Given the description of an element on the screen output the (x, y) to click on. 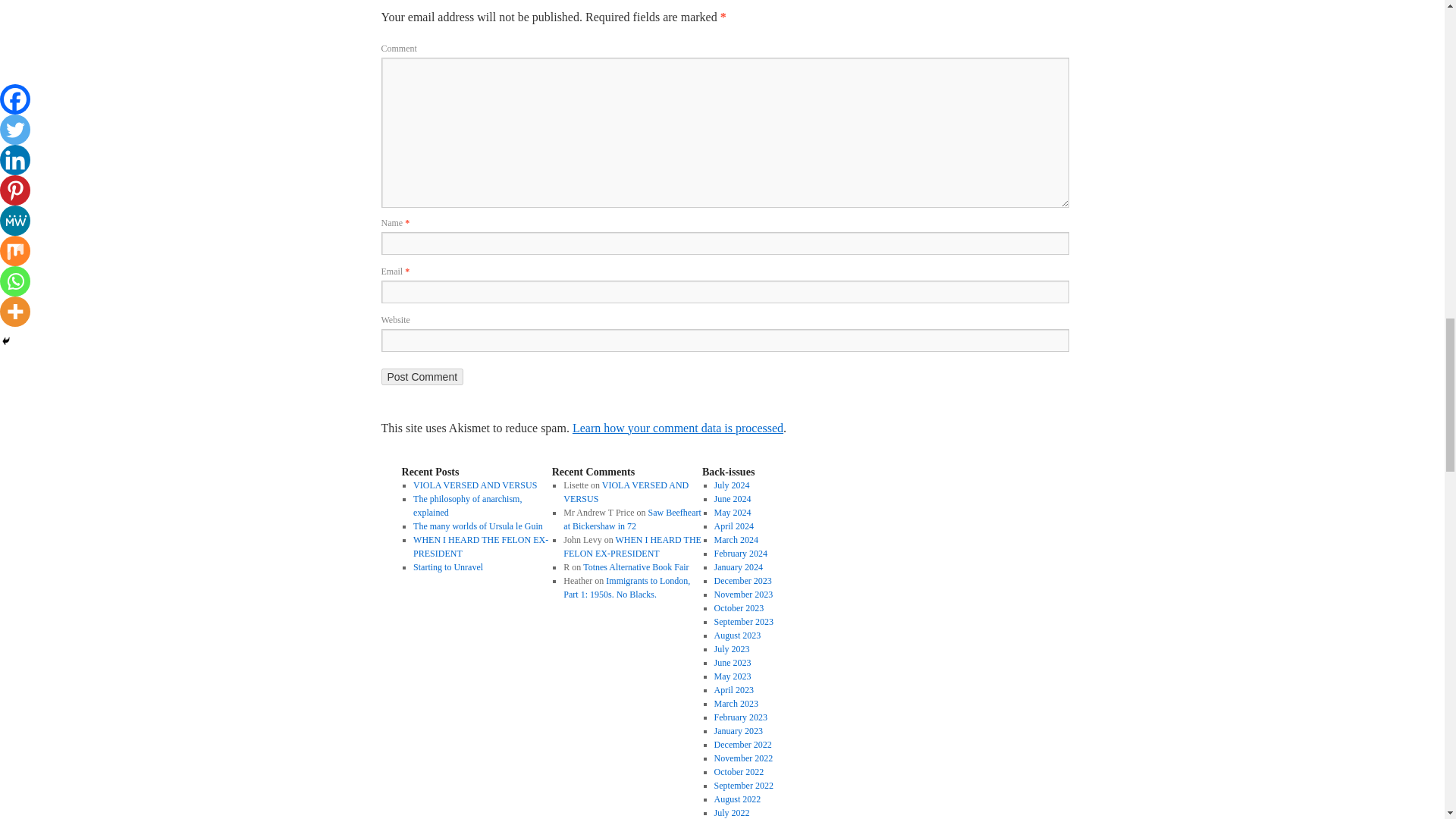
Learn how your comment data is processed (677, 427)
VIOLA VERSED AND VERSUS (475, 484)
Post Comment (421, 376)
Post Comment (421, 376)
